Given the description of an element on the screen output the (x, y) to click on. 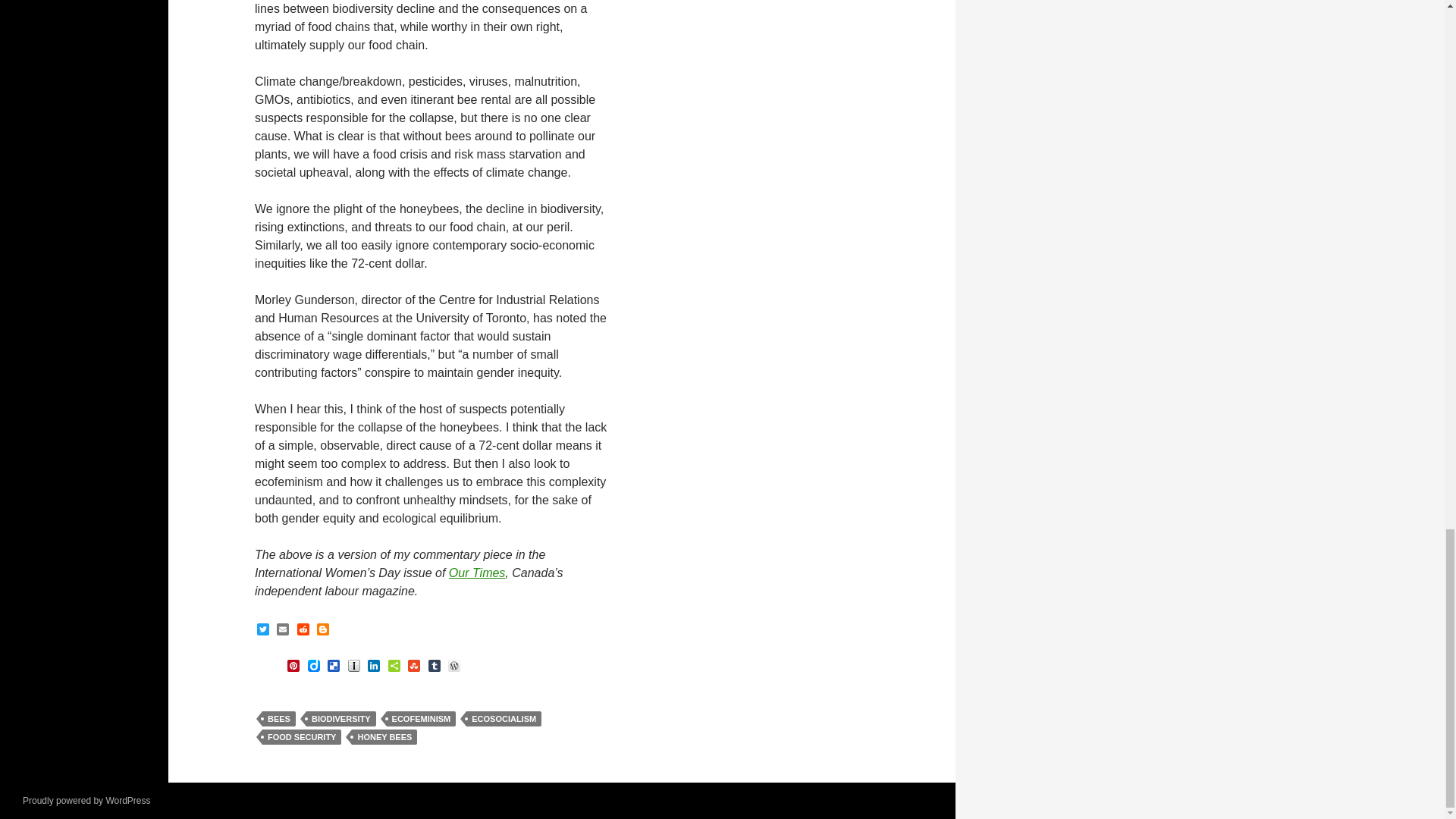
ECOFEMINISM (422, 718)
Our Times (476, 572)
BIODIVERSITY (340, 718)
Proudly powered by WordPress (87, 800)
BEES (278, 718)
FOOD SECURITY (301, 736)
HONEY BEES (384, 736)
ECOSOCIALISM (503, 718)
